Given the description of an element on the screen output the (x, y) to click on. 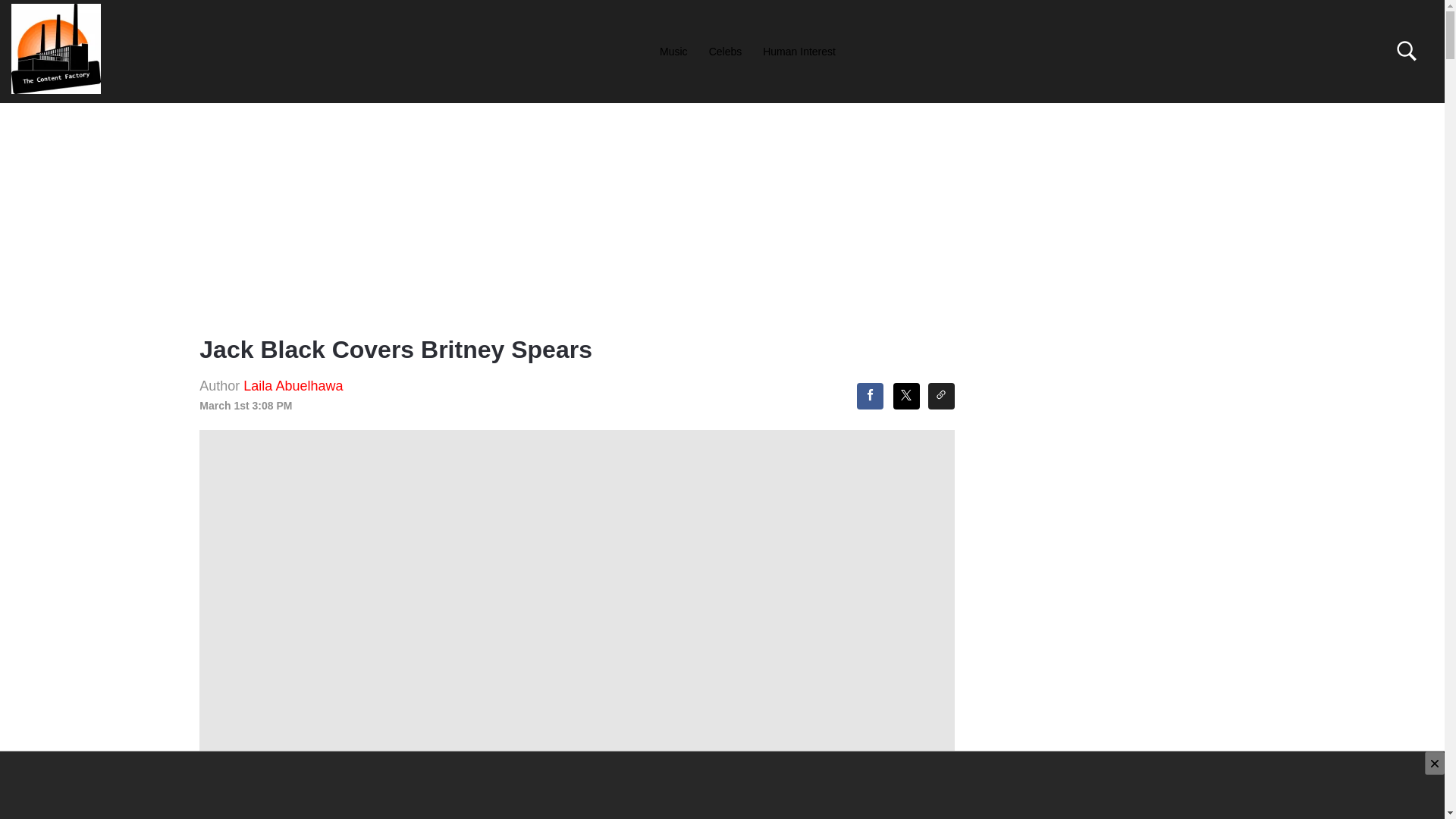
Laila Abuelhawa (292, 385)
Celebs (725, 51)
Music (673, 51)
Human Interest (798, 51)
Laila Abuelhawa (292, 385)
